Given the description of an element on the screen output the (x, y) to click on. 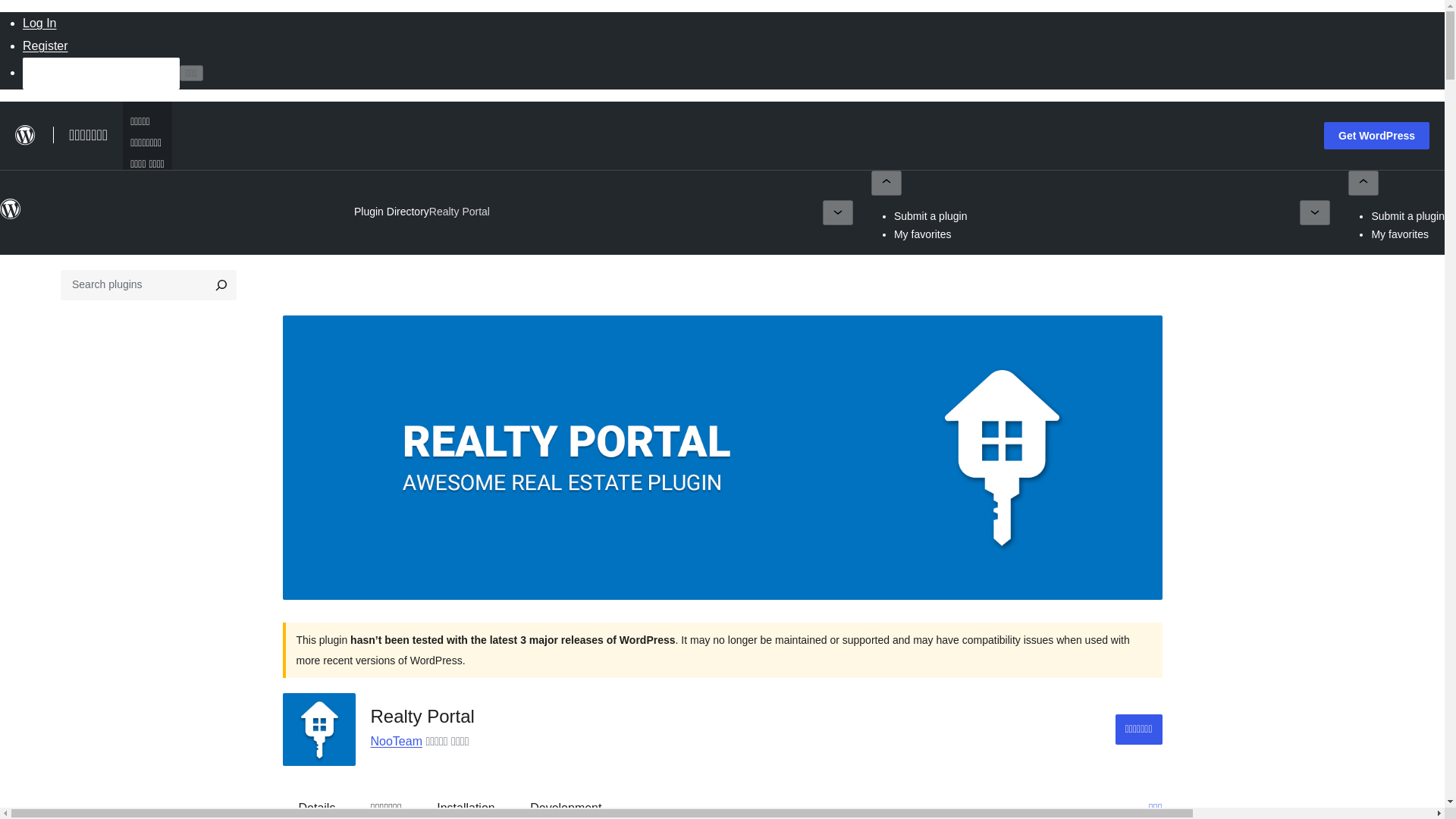
Register (45, 45)
NooTeam (395, 740)
Log In (39, 22)
Submit a plugin (930, 215)
My favorites (921, 234)
My favorites (1399, 234)
Realty Portal (459, 212)
Plugin Directory (391, 211)
Submit a plugin (1407, 215)
Development (565, 804)
